Given the description of an element on the screen output the (x, y) to click on. 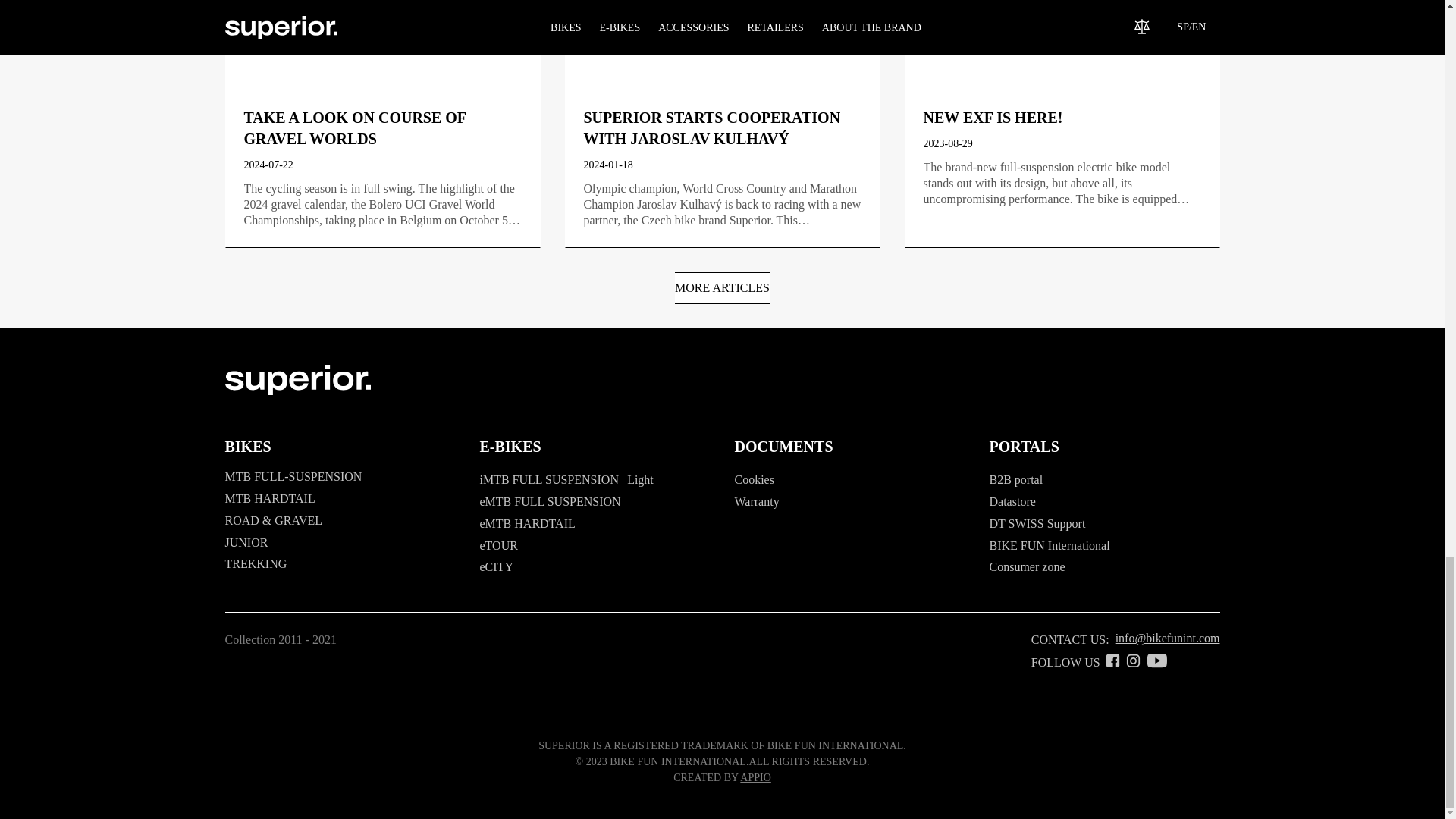
MORE ARTICLES (722, 287)
eTOUR (497, 545)
eMTB FULL SUSPENSION (549, 501)
JUNIOR (245, 542)
TREKKING (255, 563)
eMTB HARDTAIL (527, 522)
MTB HARDTAIL (269, 498)
MTB FULL-SUSPENSION (292, 476)
eCITY (495, 566)
MORE ARTICLES (722, 287)
Cookies (753, 479)
